Given the description of an element on the screen output the (x, y) to click on. 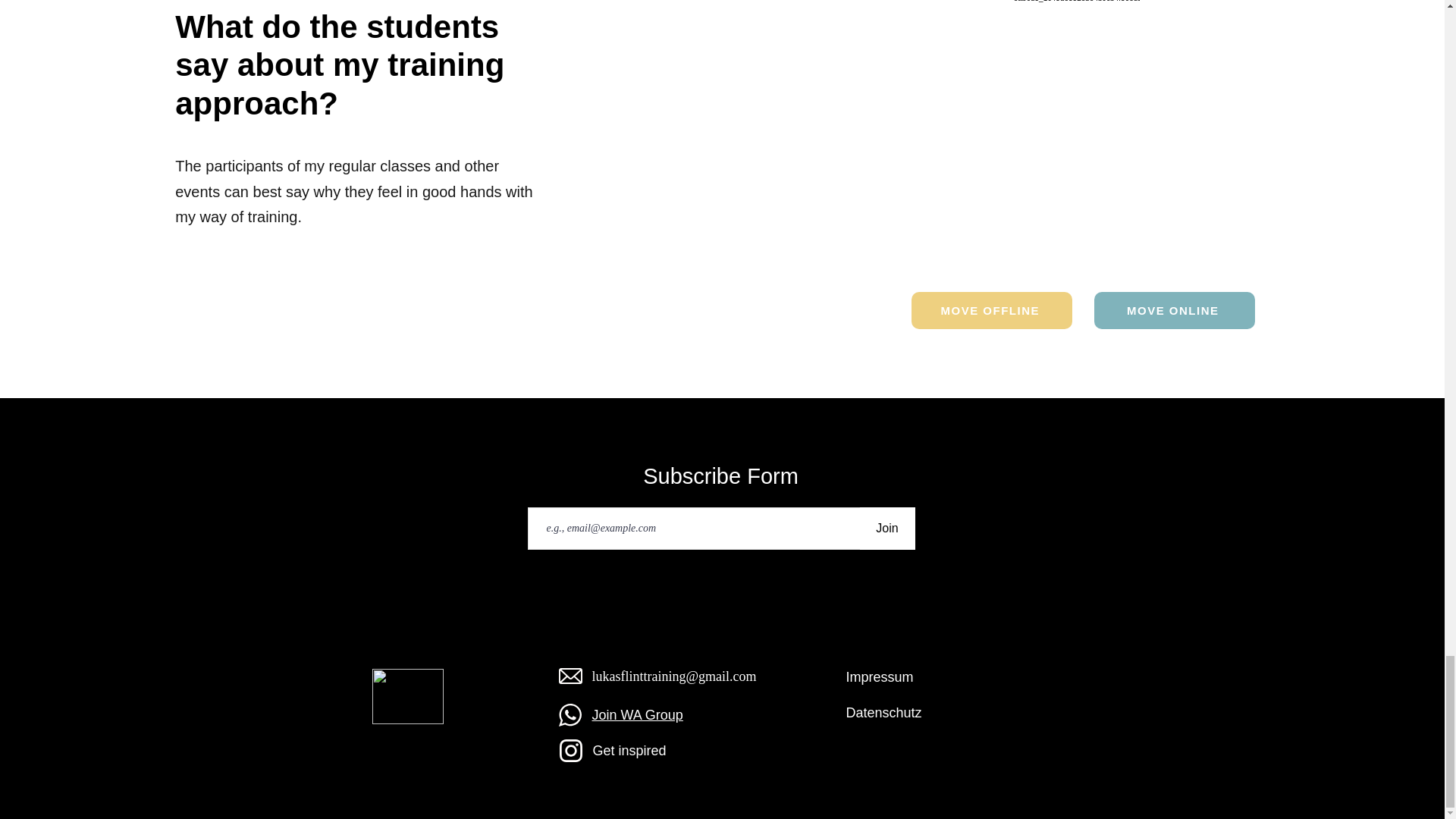
Datenschutz (883, 712)
MOVE ONLINE (1174, 310)
MOVE OFFLINE (991, 310)
Join WA Group (636, 714)
Get inspired (629, 750)
Impressum (879, 676)
Join (887, 527)
